Given the description of an element on the screen output the (x, y) to click on. 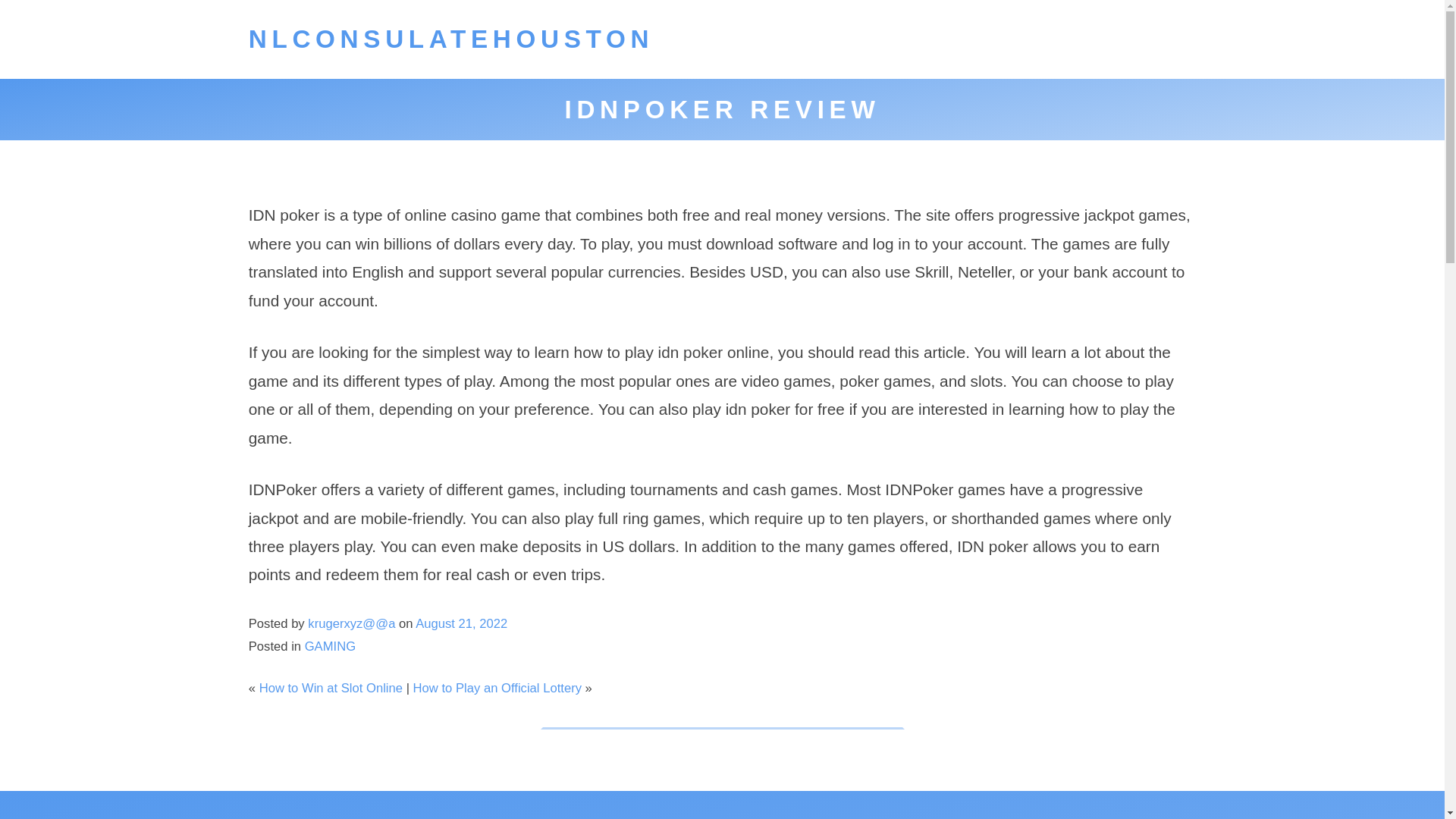
NLCONSULATEHOUSTON (450, 39)
How to Play an Official Lottery (496, 687)
How to Win at Slot Online (331, 687)
August 21, 2022 (460, 623)
GAMING (329, 646)
